Given the description of an element on the screen output the (x, y) to click on. 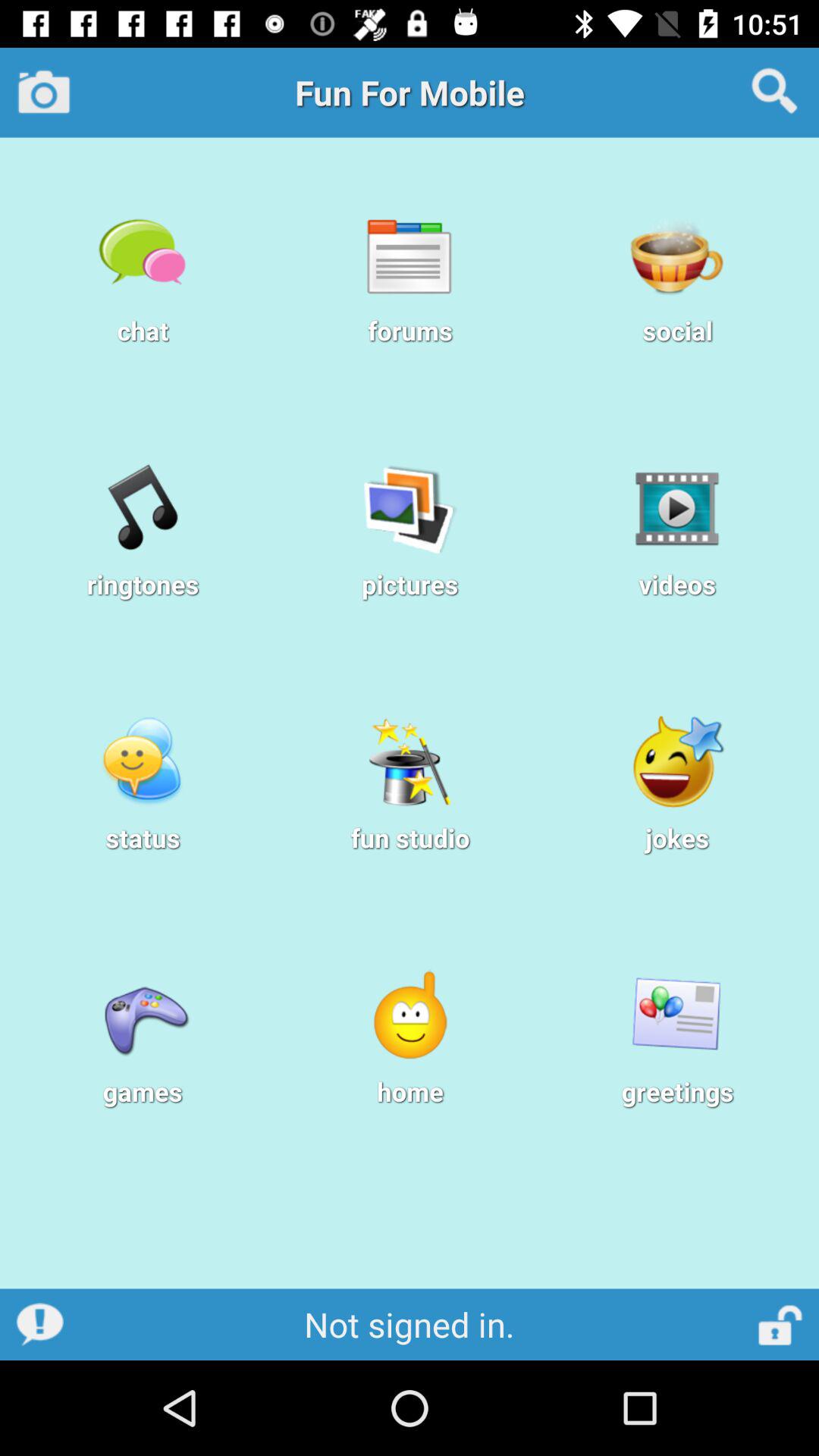
lock screen (781, 1324)
